Given the description of an element on the screen output the (x, y) to click on. 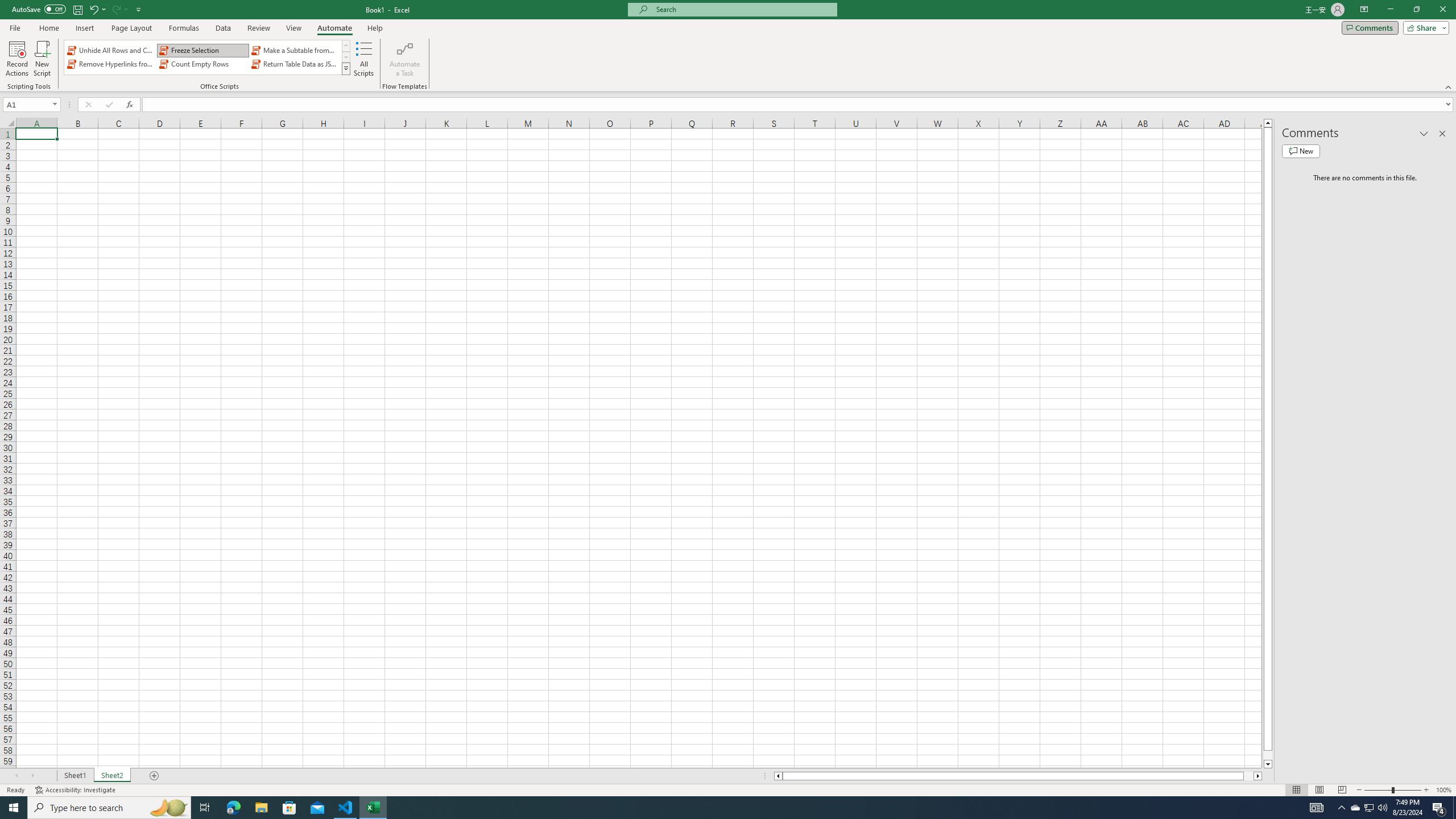
Record Actions (17, 58)
Automate a Task (404, 58)
Sheet2 (112, 775)
